Given the description of an element on the screen output the (x, y) to click on. 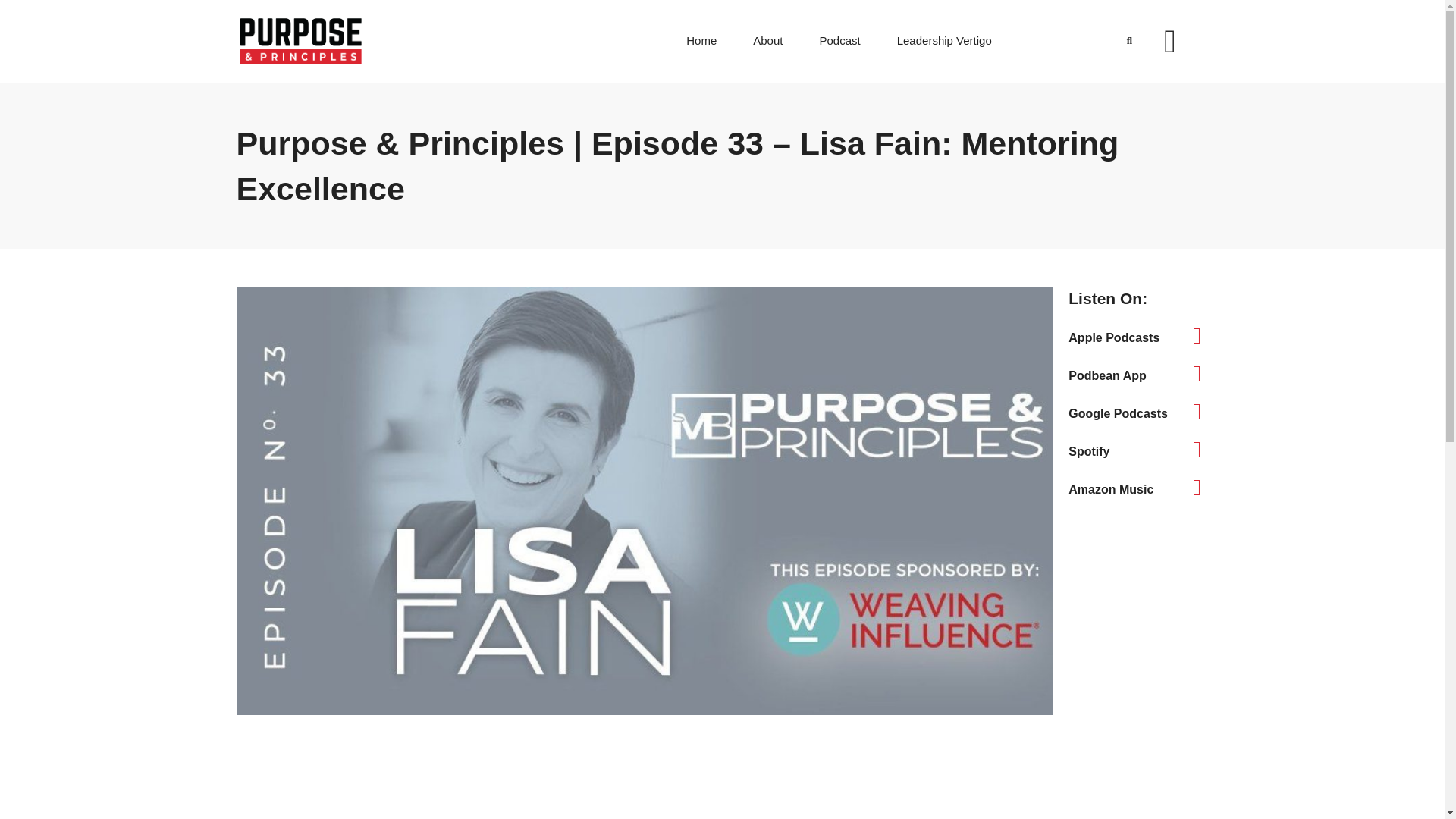
Podbean App (1107, 375)
Listen On: (1138, 298)
Home (700, 41)
Apple Podcasts (1138, 335)
Podbean App (1138, 373)
About (767, 41)
Google Podcasts (1117, 413)
Spotify (1088, 451)
Leadership Vertigo (943, 41)
Spotify (1138, 449)
